Given the description of an element on the screen output the (x, y) to click on. 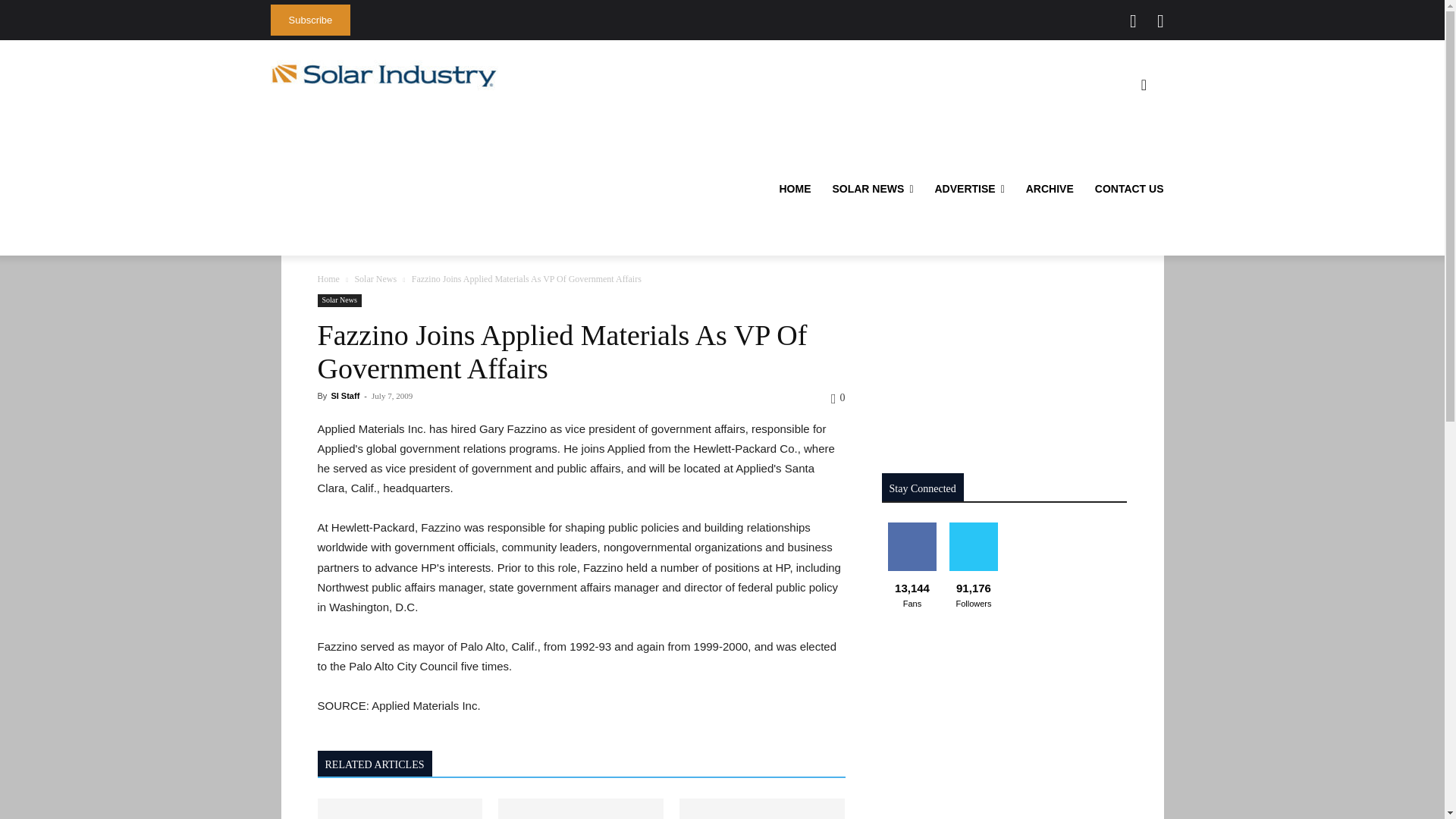
Twitter (1133, 21)
Subscribe (309, 20)
Subscribe (309, 20)
Solar Industry (383, 75)
Rss (1160, 21)
